Given the description of an element on the screen output the (x, y) to click on. 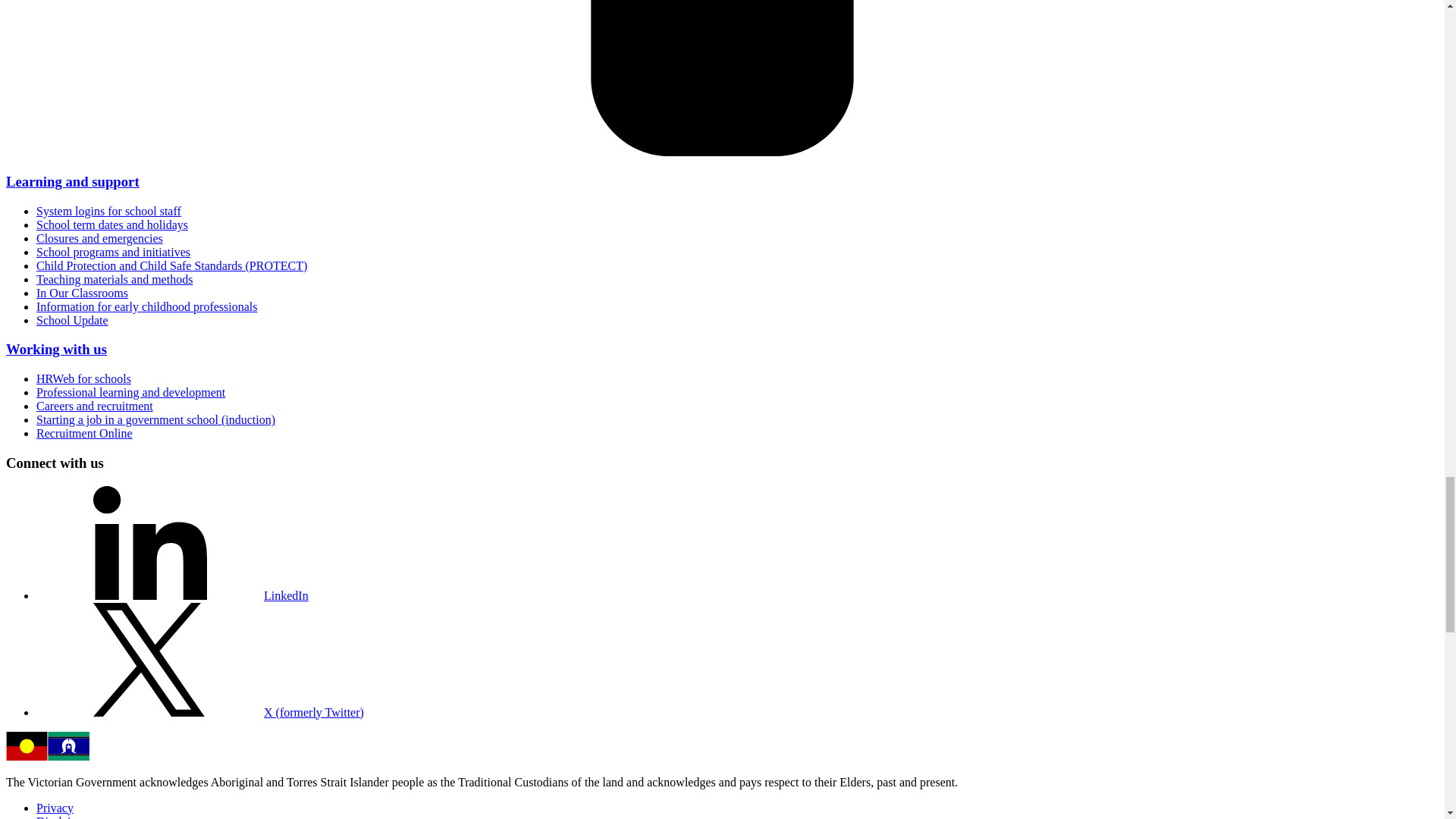
Working with us (55, 349)
Privacy (55, 807)
Disclaimer (62, 816)
Closures and emergencies (99, 237)
Learning and support (72, 181)
In Our Classrooms (82, 292)
Professional learning and development (130, 391)
Teaching materials and methods (114, 278)
Information for early childhood professionals (146, 306)
Recruitment Online (84, 432)
